Given the description of an element on the screen output the (x, y) to click on. 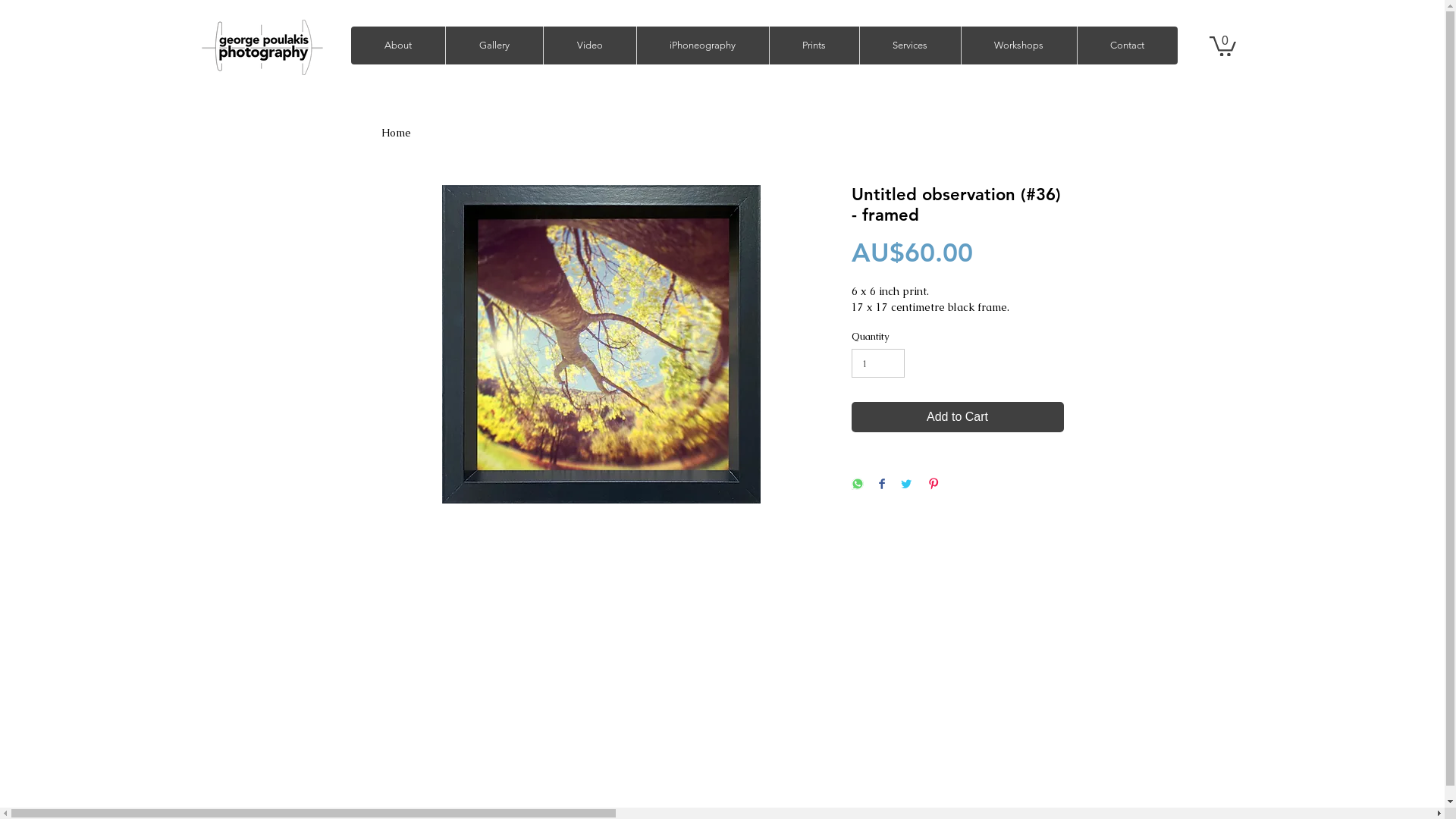
0 Element type: text (1221, 45)
GEORGEPOULAKIS.png Element type: hover (262, 46)
Add to Cart Element type: text (956, 416)
Contact Element type: text (1126, 45)
Home Element type: text (395, 132)
About Element type: text (397, 45)
Workshops Element type: text (1018, 45)
iPhoneography Element type: text (701, 45)
Services Element type: text (909, 45)
